Given the description of an element on the screen output the (x, y) to click on. 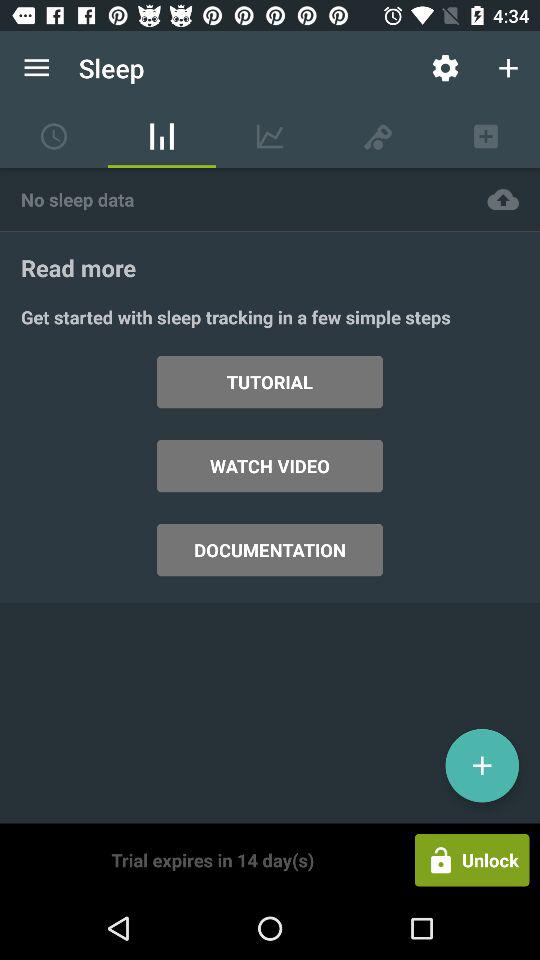
scroll until the documentation icon (269, 549)
